Given the description of an element on the screen output the (x, y) to click on. 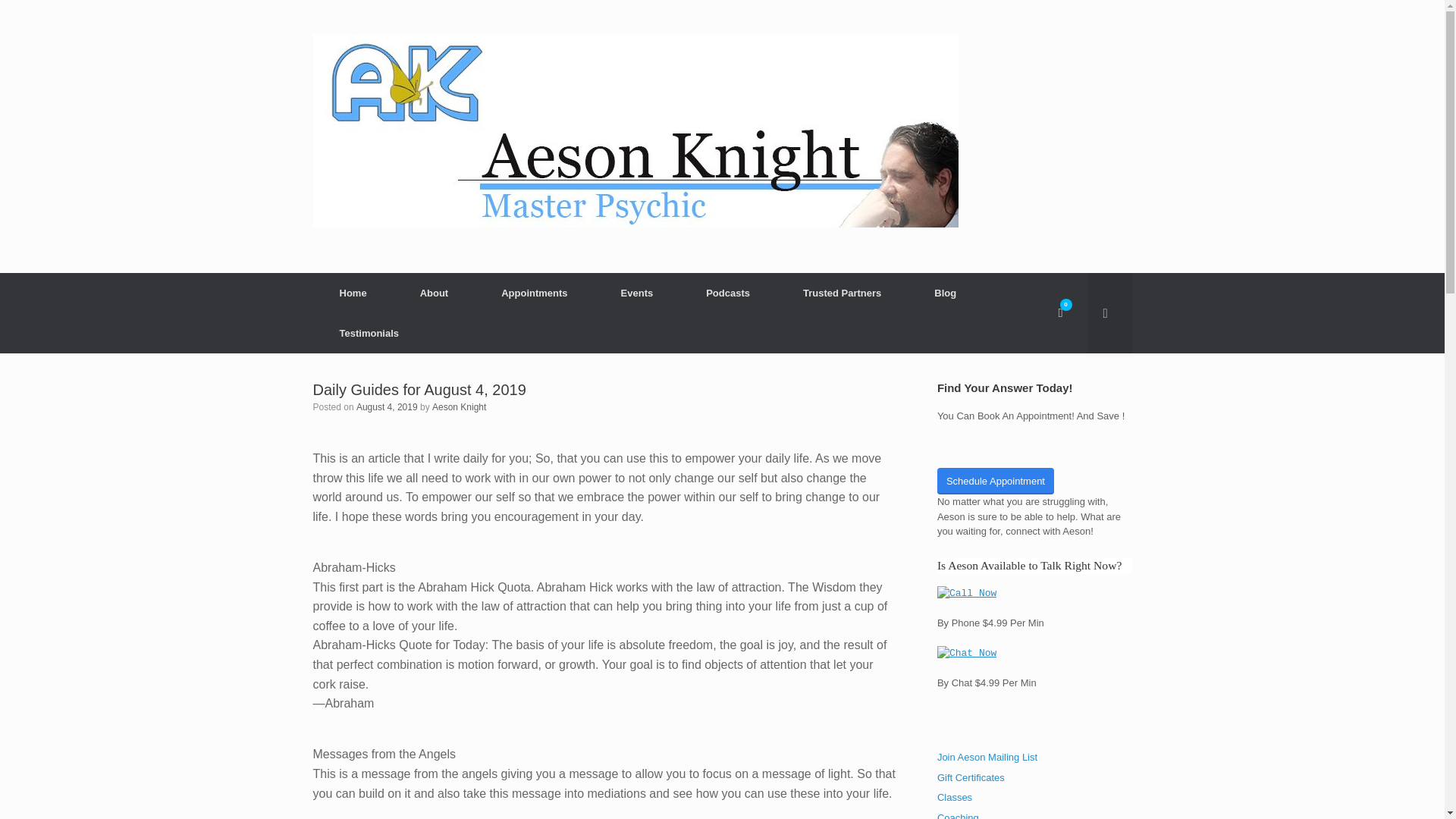
View all posts by Aeson Knight (459, 407)
Schedule Appointment (995, 481)
Welcome to Aeson Knight (635, 130)
Podcasts (727, 292)
About (434, 292)
Testimonials (369, 332)
Home (353, 292)
Blog (944, 292)
Trusted Partners (841, 292)
Events (636, 292)
Join Aeson Mailing List (986, 756)
August 4, 2019 (386, 407)
Aeson Knight (459, 407)
10:50 pm (386, 407)
Appointments (534, 292)
